Given the description of an element on the screen output the (x, y) to click on. 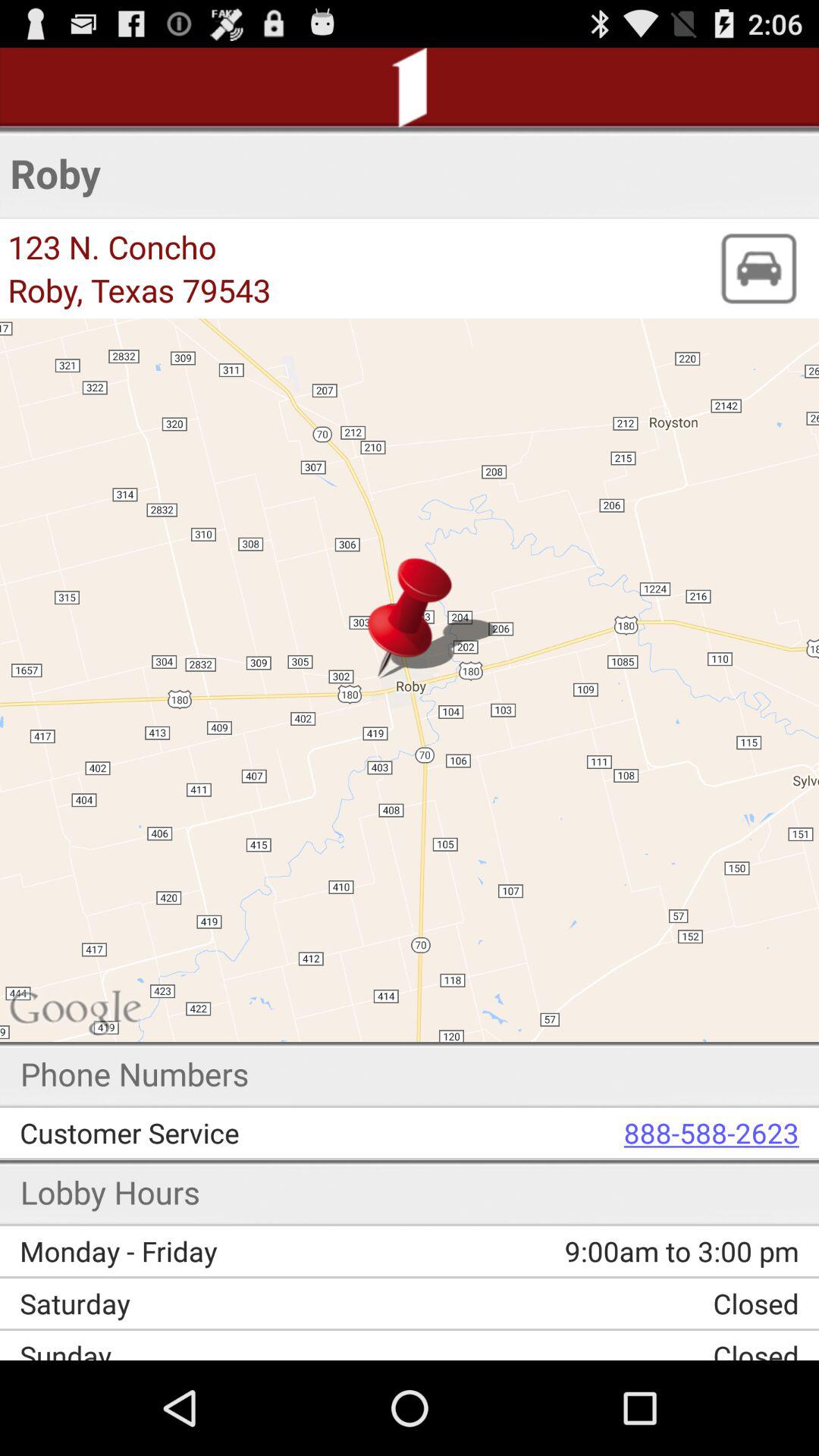
select icon to the right of the roby, texas 79543 app (757, 268)
